Given the description of an element on the screen output the (x, y) to click on. 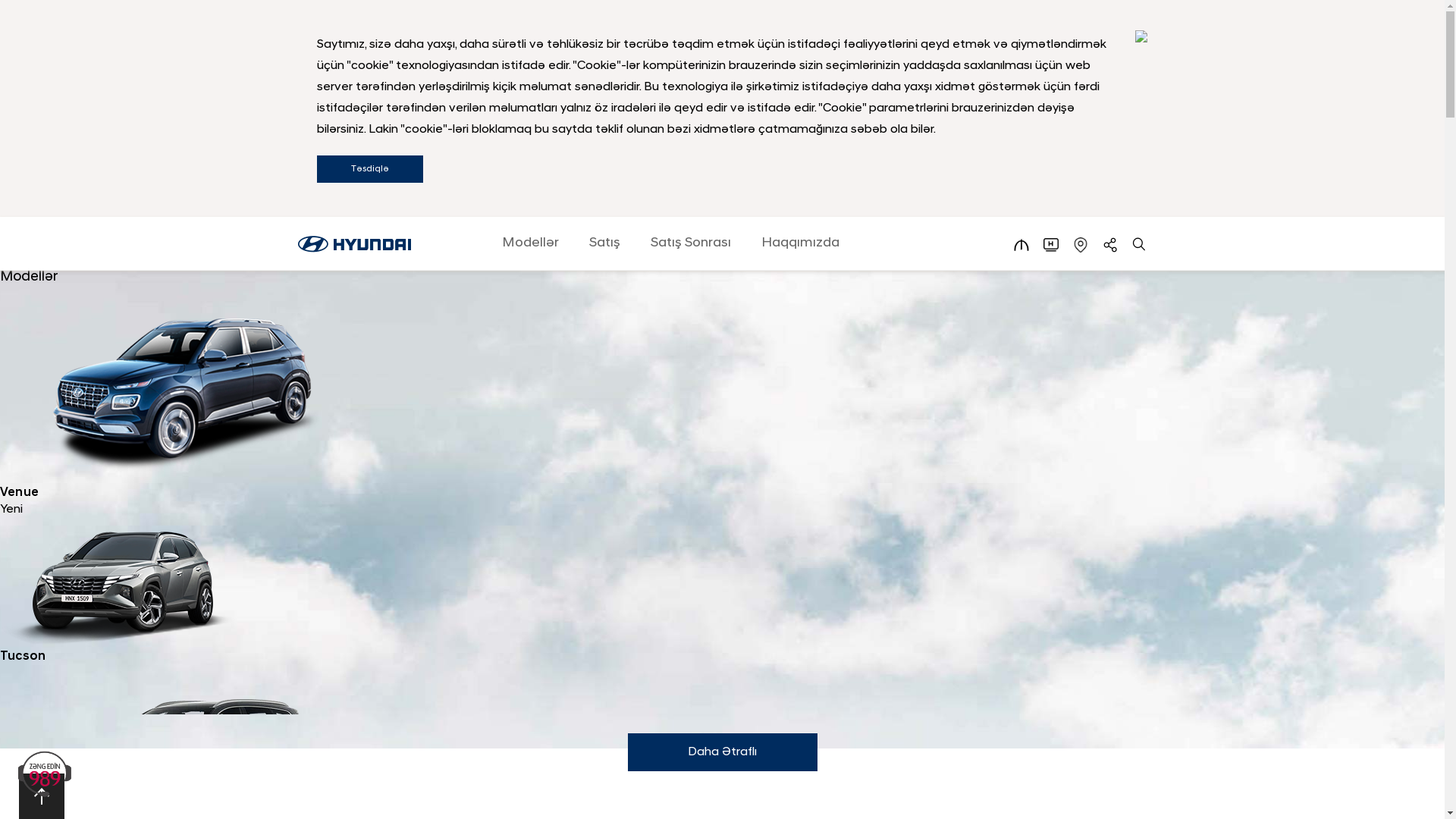
Venue
Yeni Element type: text (722, 400)
hyundai Element type: text (353, 243)
Axtar Element type: text (1138, 244)
Hyundai Tv Element type: text (1050, 244)
Tucson Element type: text (722, 591)
